Given the description of an element on the screen output the (x, y) to click on. 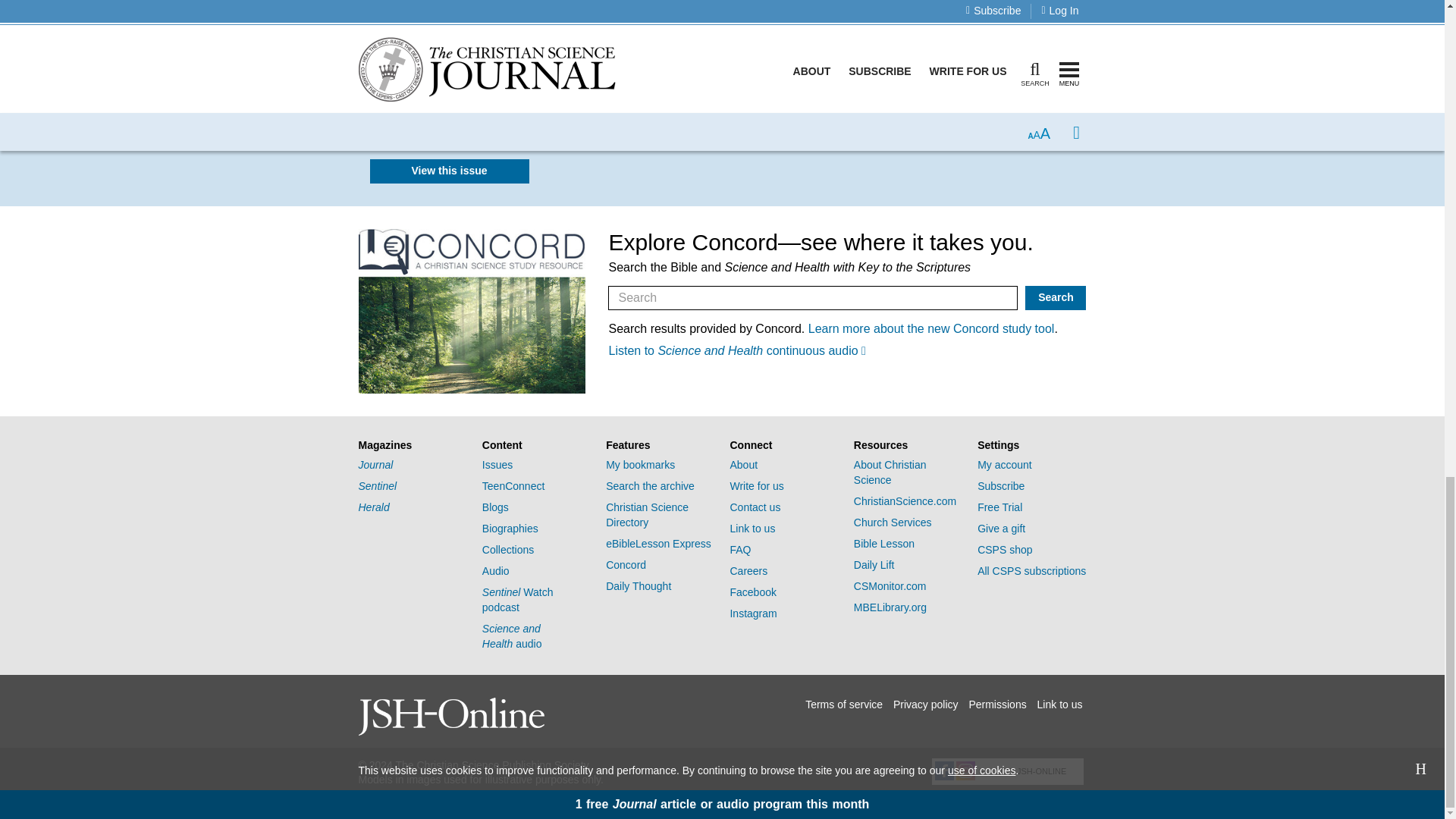
Footnote link Learn more about the new Concord study tool (931, 328)
Search (1055, 297)
concord-web-promo-graphic (471, 311)
